Given the description of an element on the screen output the (x, y) to click on. 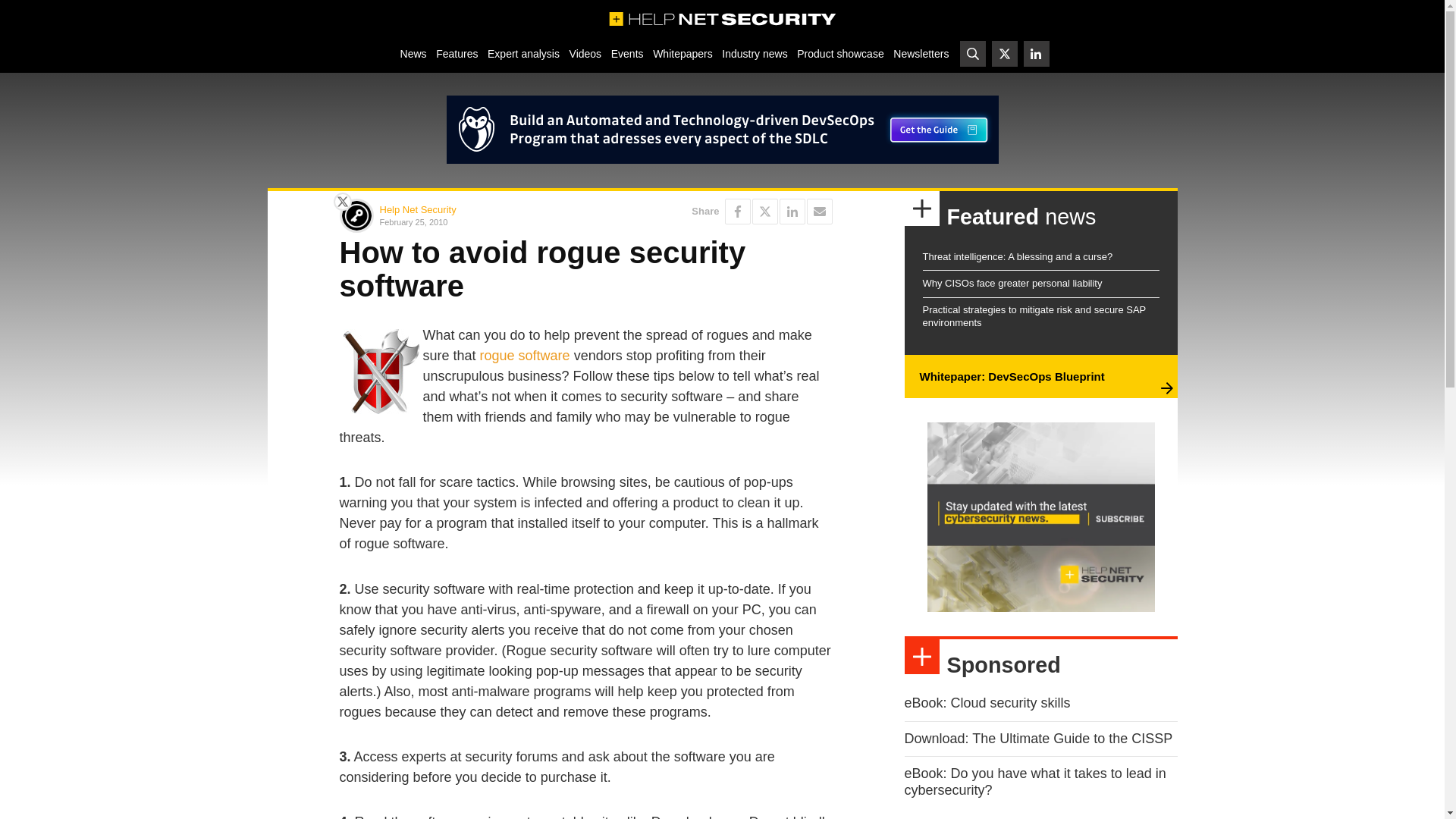
eBook: Cloud security skills (987, 702)
eBook: Cloud security skills (987, 702)
Whitepapers (682, 53)
Industry news (754, 53)
Expert analysis (523, 53)
Share How to avoid rogue security software on Twitter (764, 211)
Share How to avoid rogue security software on LinkedIn (791, 211)
Threat intelligence: A blessing and a curse? (1016, 256)
Download: The Ultimate Guide to the CISSP (1038, 738)
Threat intelligence: A blessing and a curse? (1016, 256)
Whitepaper: DevSecOps Blueprint (1010, 376)
Events (626, 53)
eBook: Do you have what it takes to lead in cybersecurity? (1035, 781)
